Given the description of an element on the screen output the (x, y) to click on. 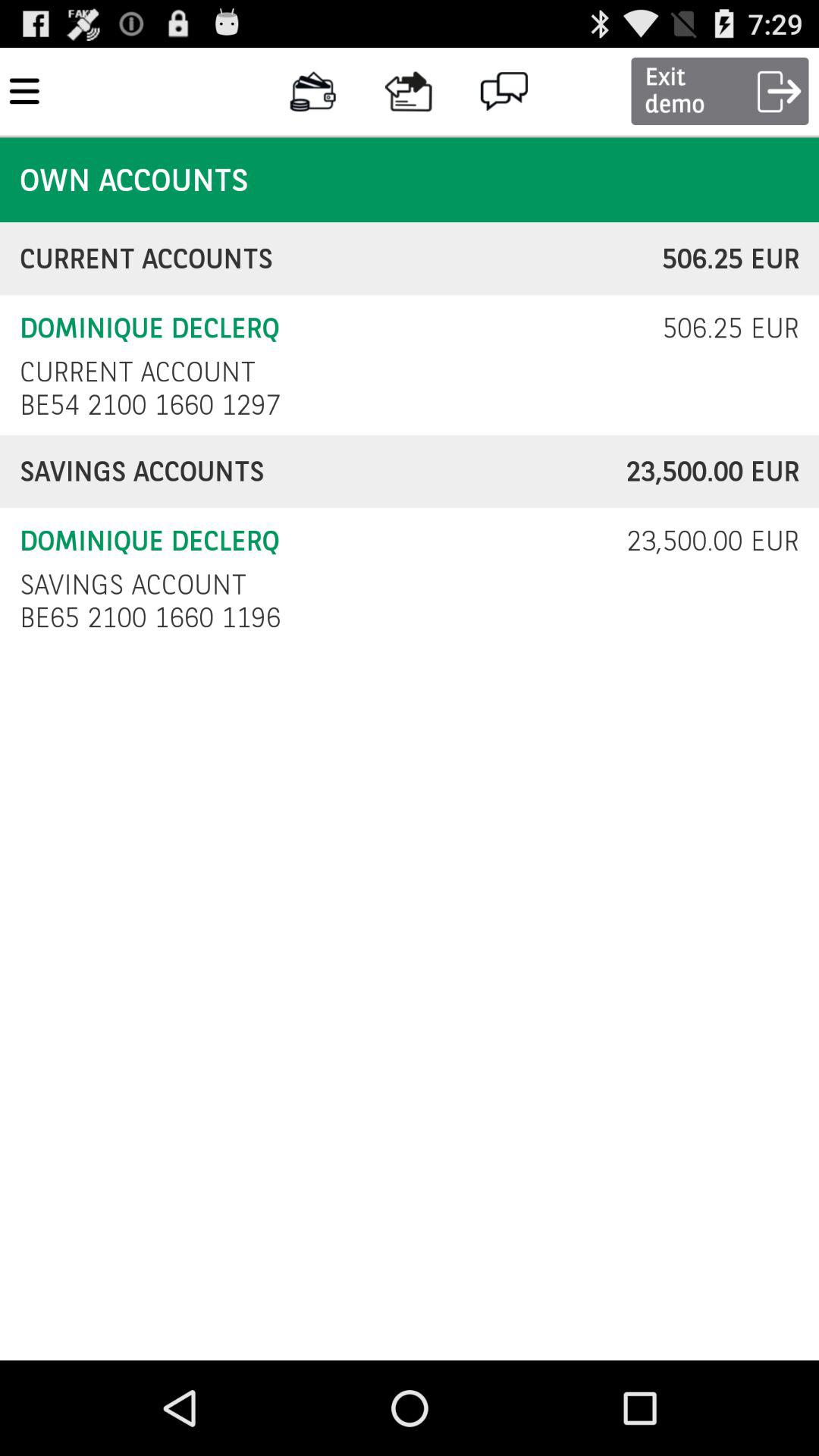
turn on the be54 2100 1660 checkbox (153, 404)
